Given the description of an element on the screen output the (x, y) to click on. 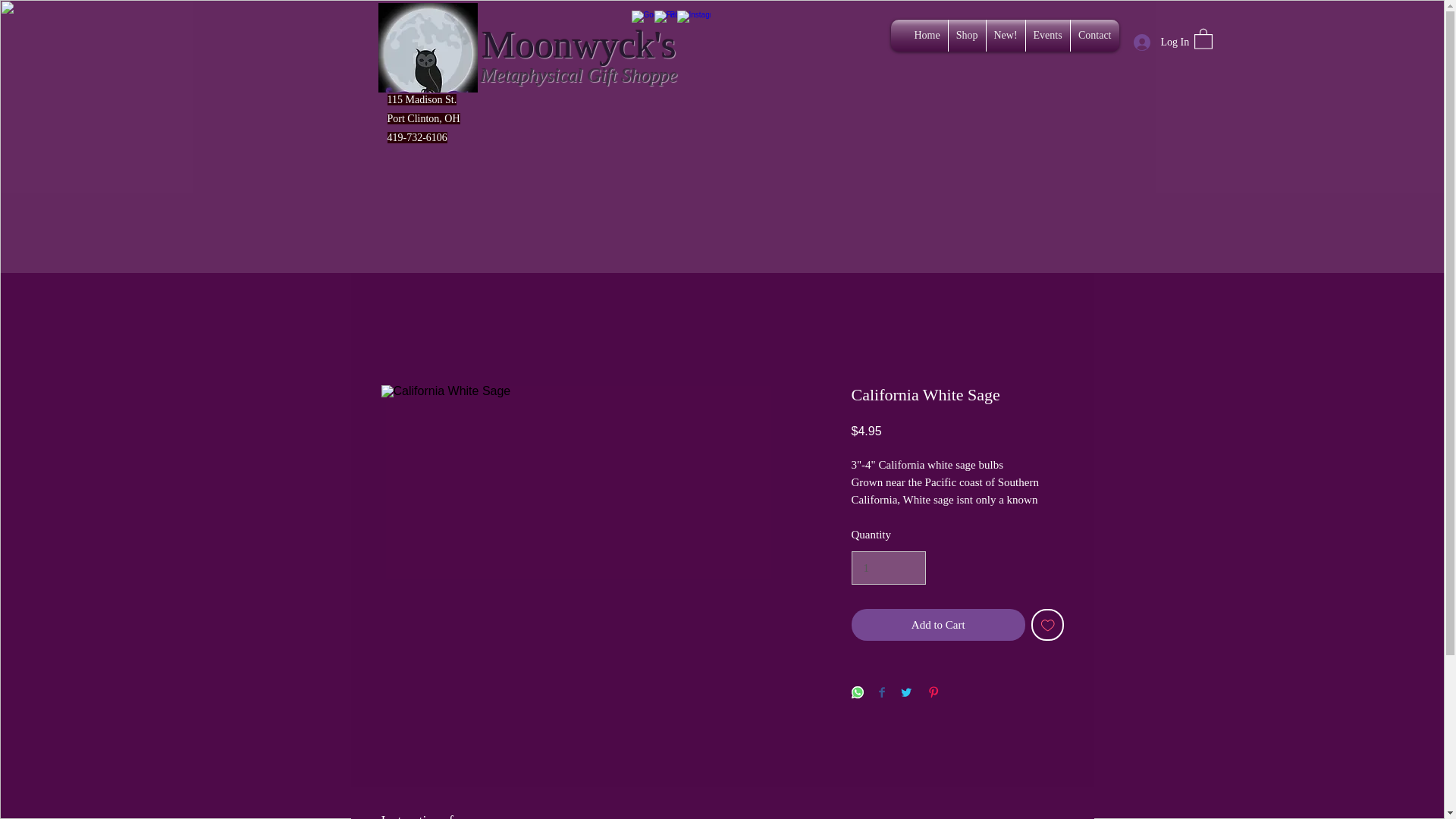
1 (887, 567)
Log In (1156, 41)
Add to Cart (937, 625)
Shop (966, 35)
Contact (1094, 35)
Events (1046, 35)
Moonwyck's (579, 44)
Home (927, 35)
New! (1005, 35)
